Given the description of an element on the screen output the (x, y) to click on. 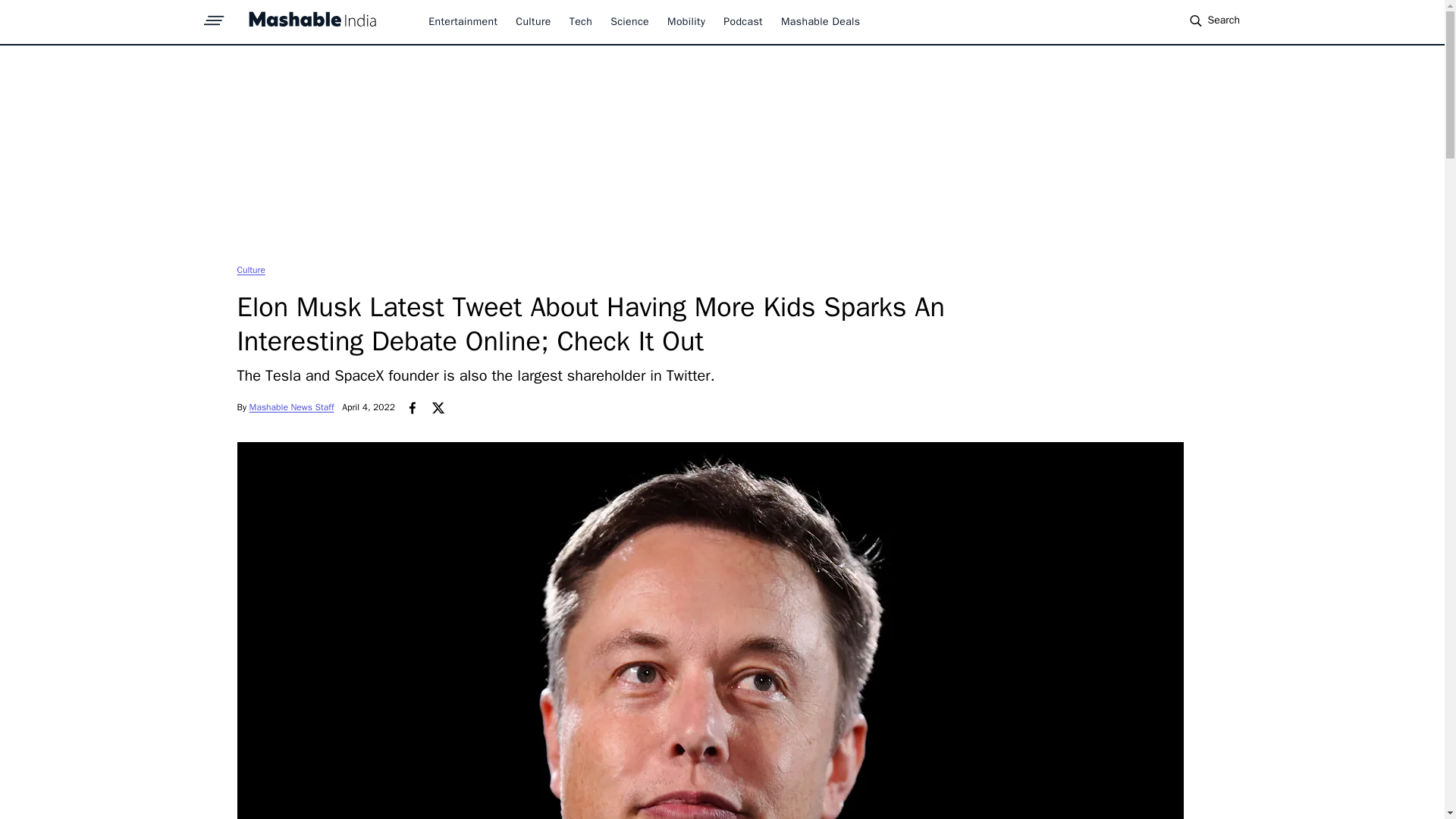
Mashable News Staff (291, 407)
Mashable Deals (820, 21)
Entertainment (462, 21)
Culture (532, 21)
Culture (249, 269)
Culture (249, 269)
Podcast (742, 21)
Tech (580, 21)
Science (629, 21)
Mobility (685, 21)
